Given the description of an element on the screen output the (x, y) to click on. 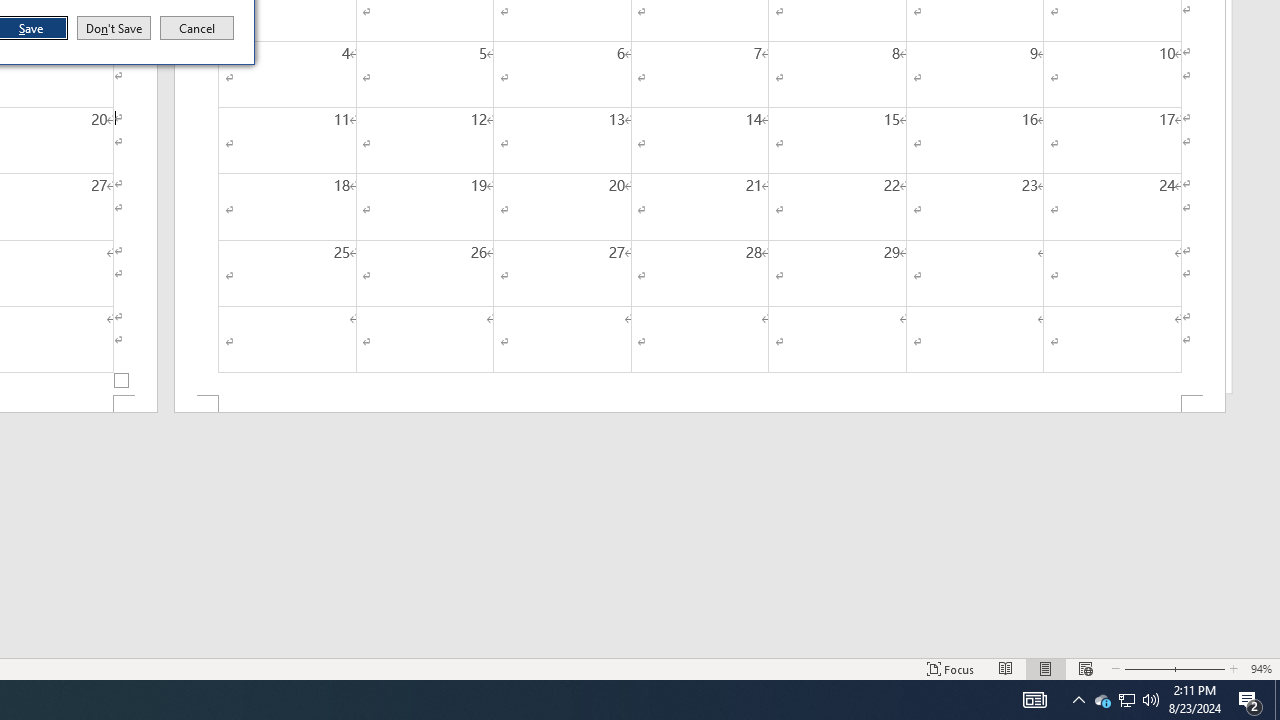
Q2790: 100% (1151, 699)
Action Center, 2 new notifications (1250, 699)
Focus  (951, 668)
User Promoted Notification Area (1126, 699)
Notification Chevron (1078, 699)
